Given the description of an element on the screen output the (x, y) to click on. 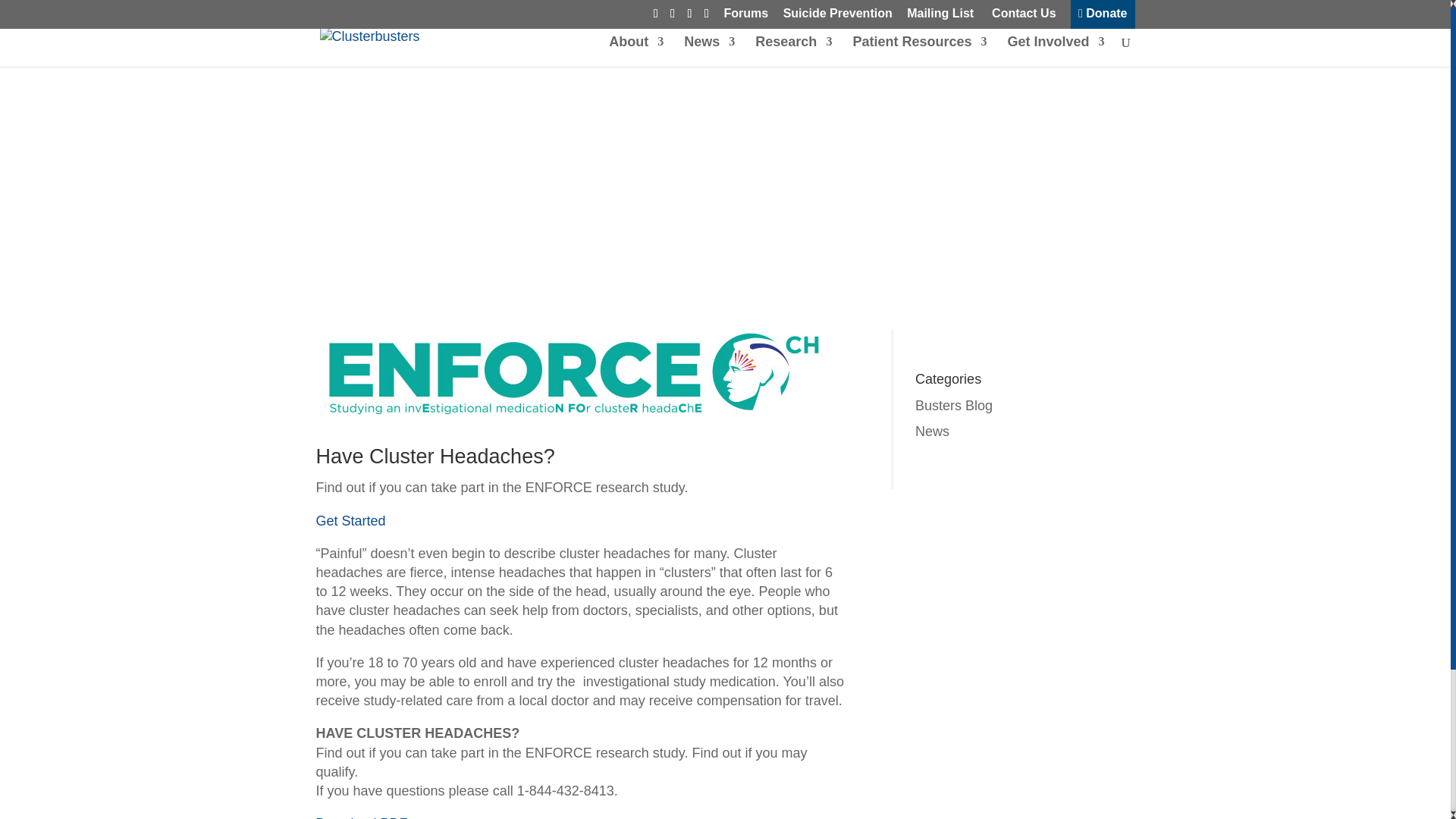
Donate (1102, 17)
Forums (745, 17)
News (709, 51)
About (635, 51)
Mailing List (940, 17)
Posts by Bob Wold (363, 196)
Research (793, 51)
Suicide Prevention (837, 17)
Get Involved (1055, 51)
Contact Us (1022, 17)
